Given the description of an element on the screen output the (x, y) to click on. 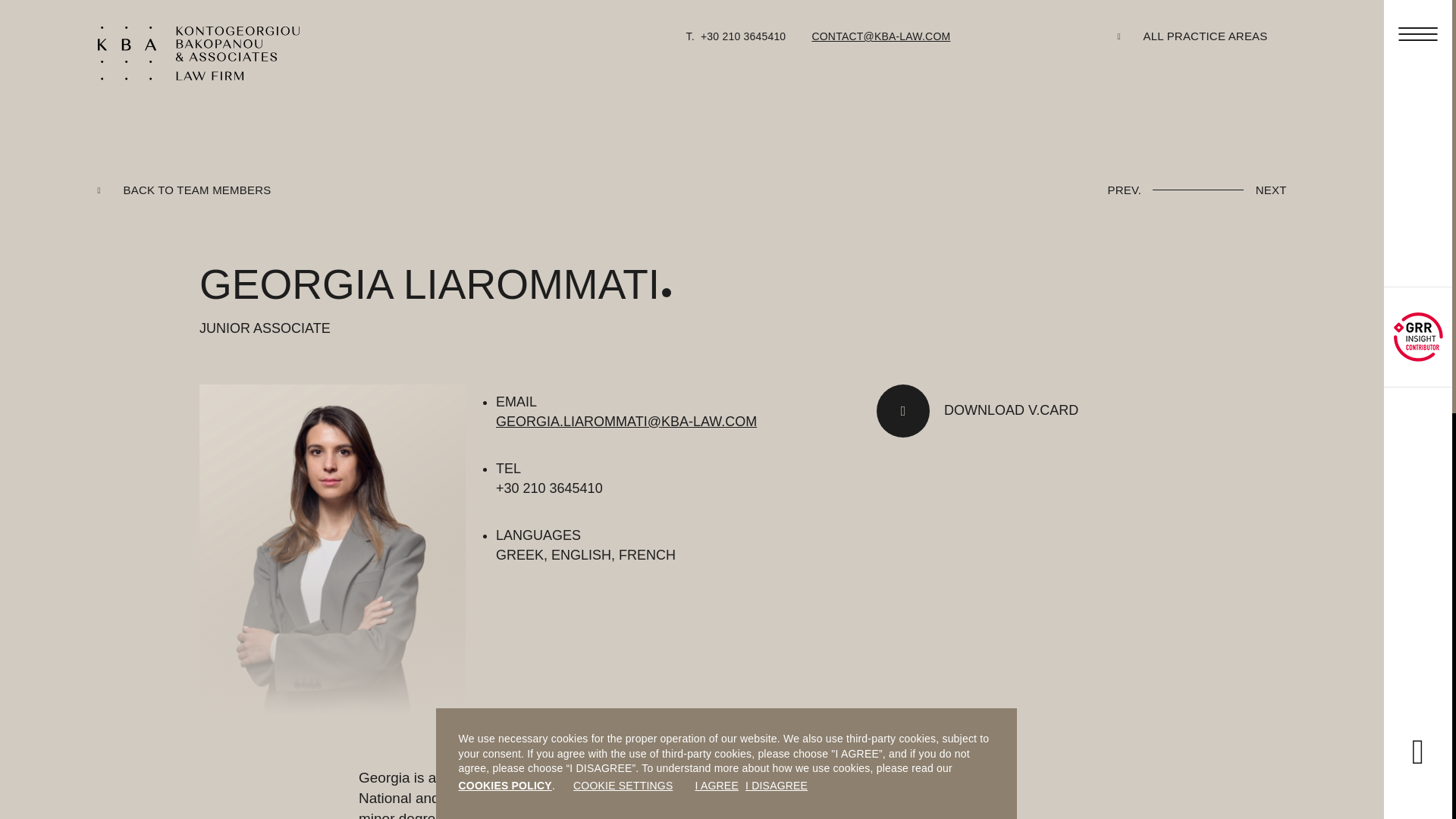
Link to next page (1267, 188)
ALL PRACTICE AREAS (1193, 35)
DOWNLOAD V.CARD (977, 409)
PREV. (1125, 188)
Link to previous page (1125, 188)
NEXT (1267, 188)
BACK TO TEAM MEMBERS (183, 189)
